Given the description of an element on the screen output the (x, y) to click on. 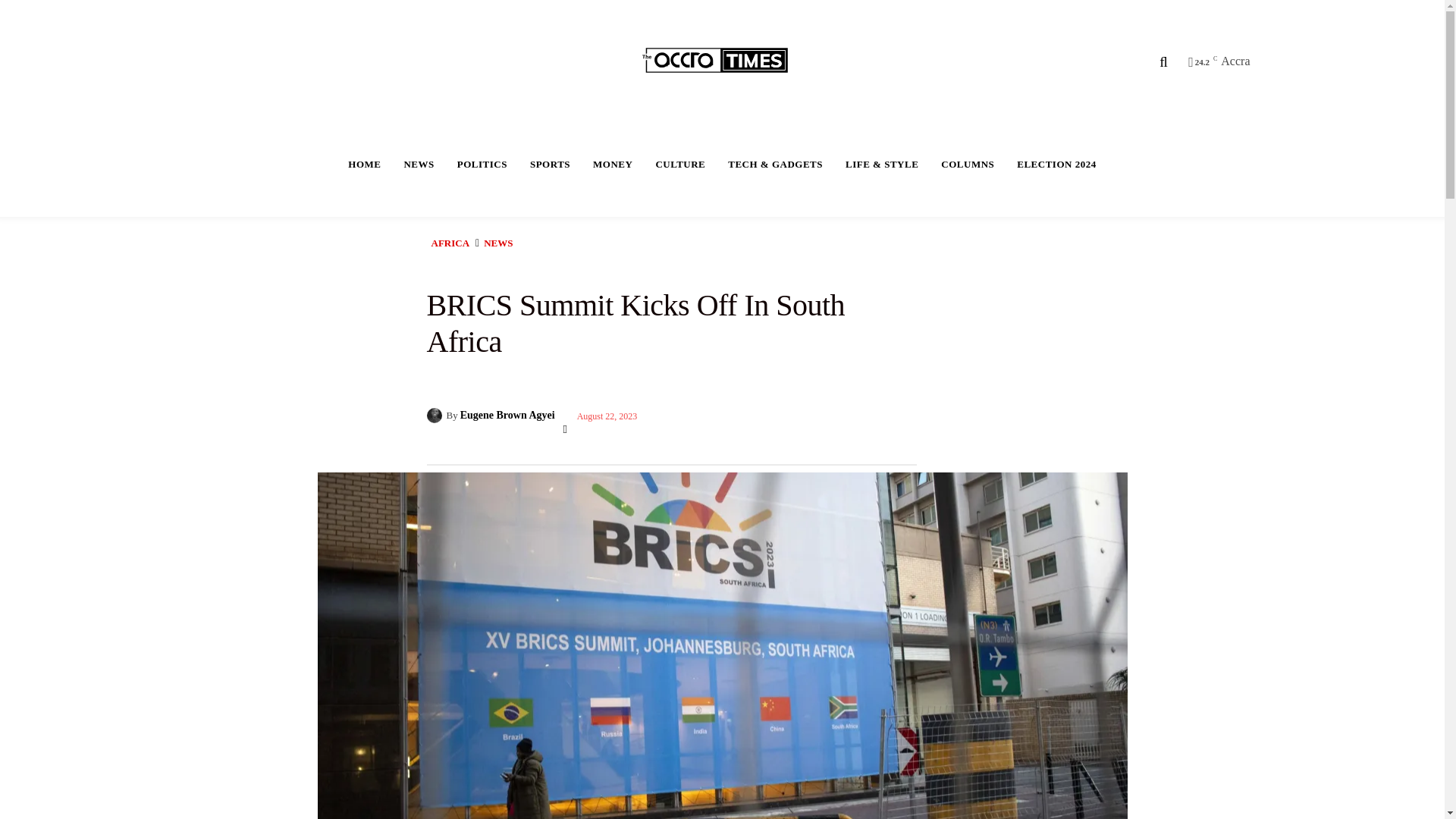
Breaking news from Ghana and around the world (724, 60)
NEWS (418, 164)
Eugene Brown Agyei (435, 415)
HOME (364, 164)
